Given the description of an element on the screen output the (x, y) to click on. 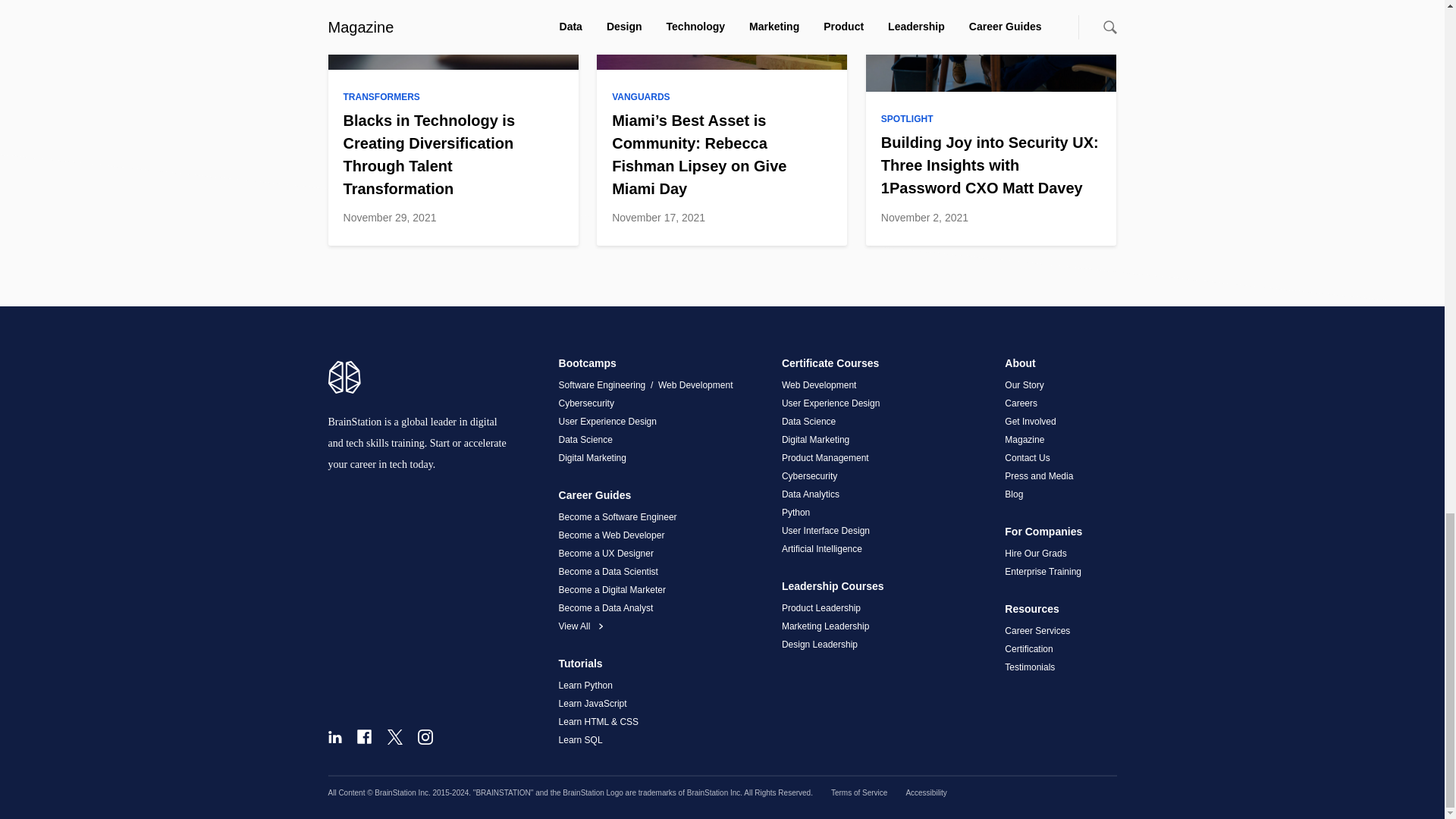
BrainStation Facebook (363, 736)
BrainStation X (394, 736)
BrainStation LinkedIn (333, 736)
BrainStation Instagram (424, 736)
